Given the description of an element on the screen output the (x, y) to click on. 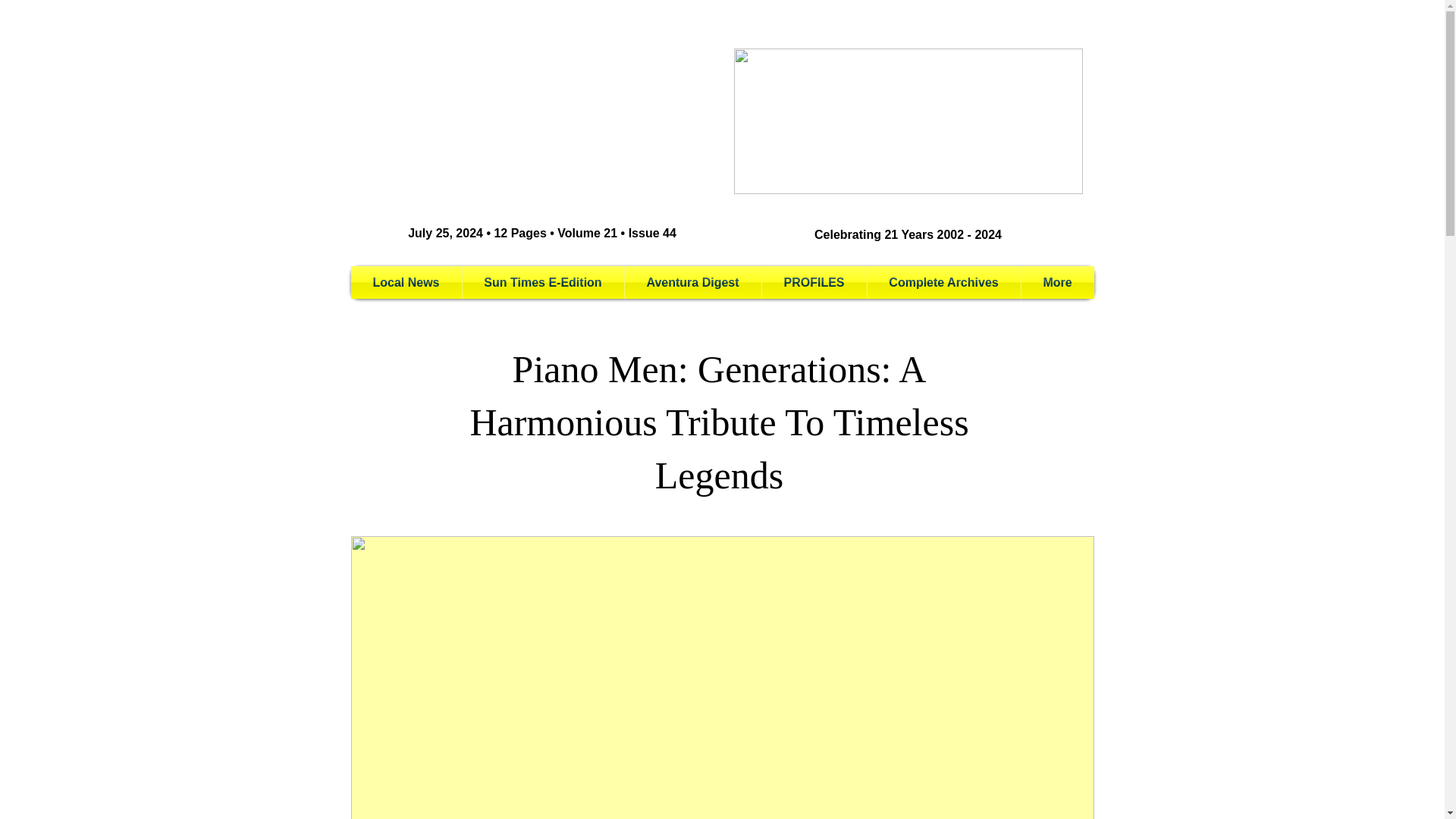
Local News (405, 282)
Aventura Digest (692, 282)
Sun Times Logo.jpg (908, 121)
Sun Times E-Edition (543, 282)
Complete Archives (943, 282)
PROFILES (813, 282)
